Given the description of an element on the screen output the (x, y) to click on. 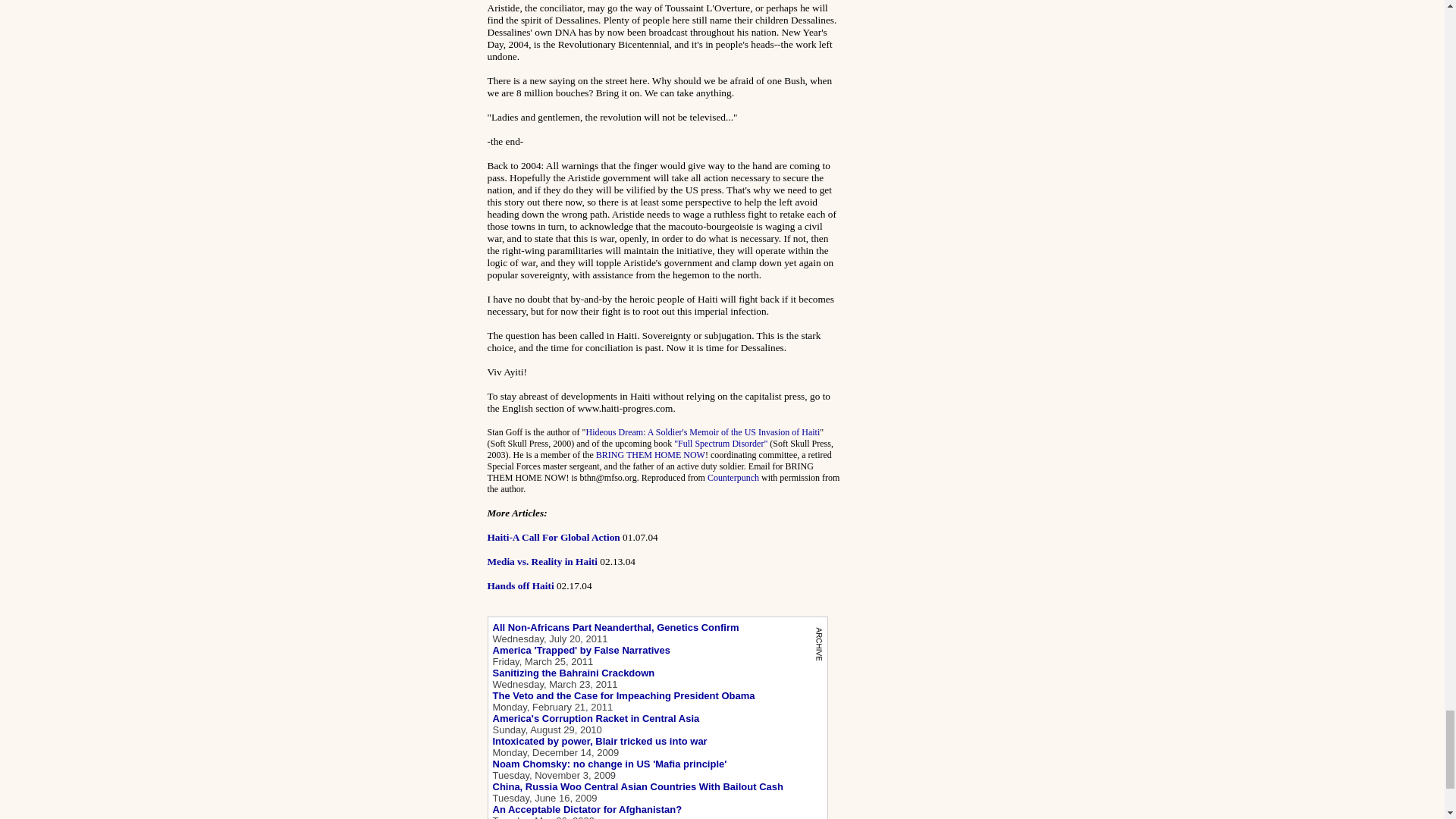
Noam Chomsky: no change in US 'Mafia principle' (609, 763)
Counterpunch (732, 477)
All Non-Africans Part Neanderthal, Genetics Confirm (616, 627)
BRING THEM HOME NOW (649, 454)
Haiti-A Call For Global Action (553, 536)
Sanitizing the Bahraini Crackdown (574, 672)
America's Corruption Racket in Central Asia (596, 717)
"Full Spectrum Disorder" (720, 443)
An Acceptable Dictator for Afghanistan? (587, 808)
